Given the description of an element on the screen output the (x, y) to click on. 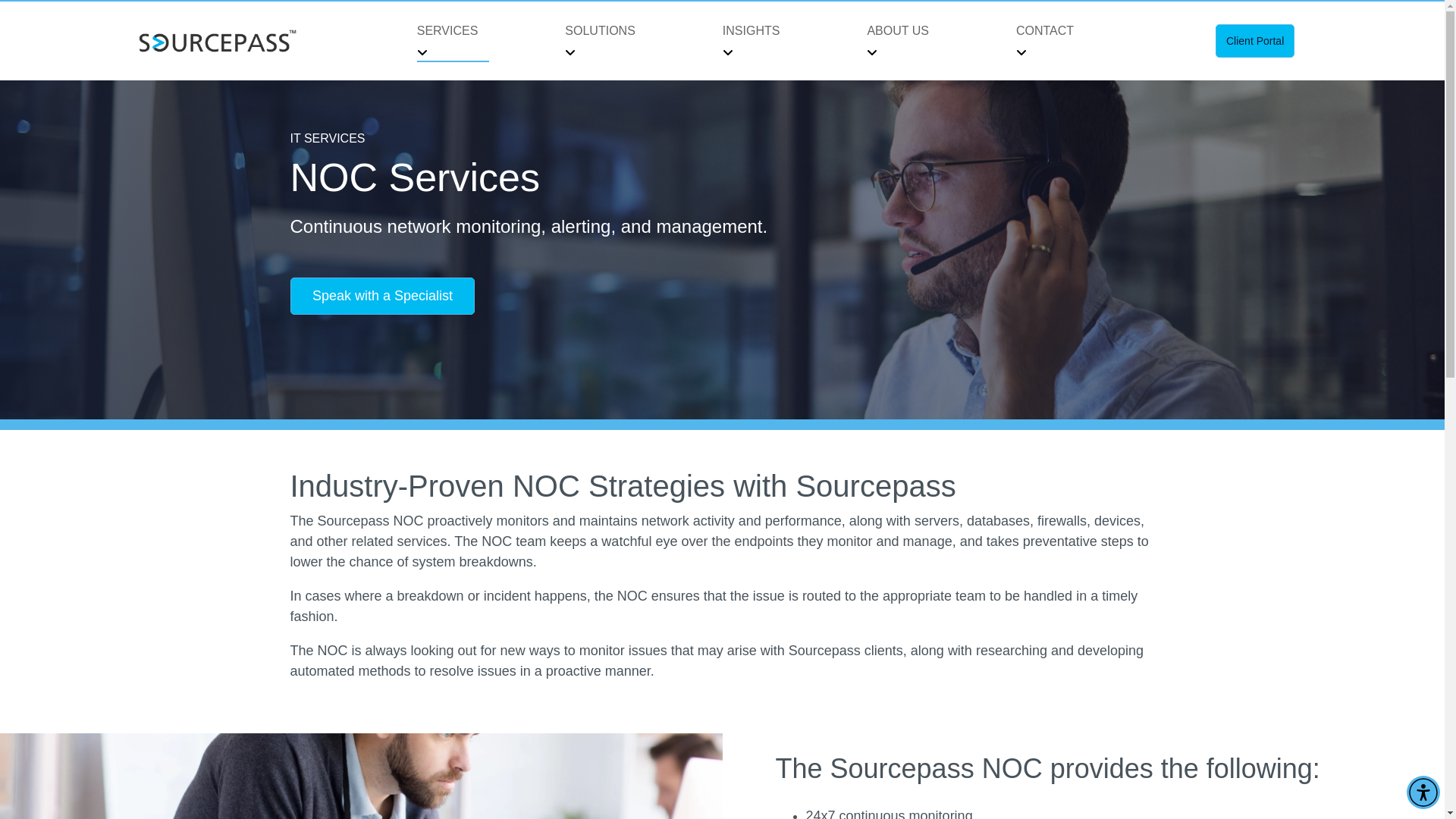
Accessibility Menu (1422, 792)
SERVICES (452, 30)
Logo-black (217, 41)
